Given the description of an element on the screen output the (x, y) to click on. 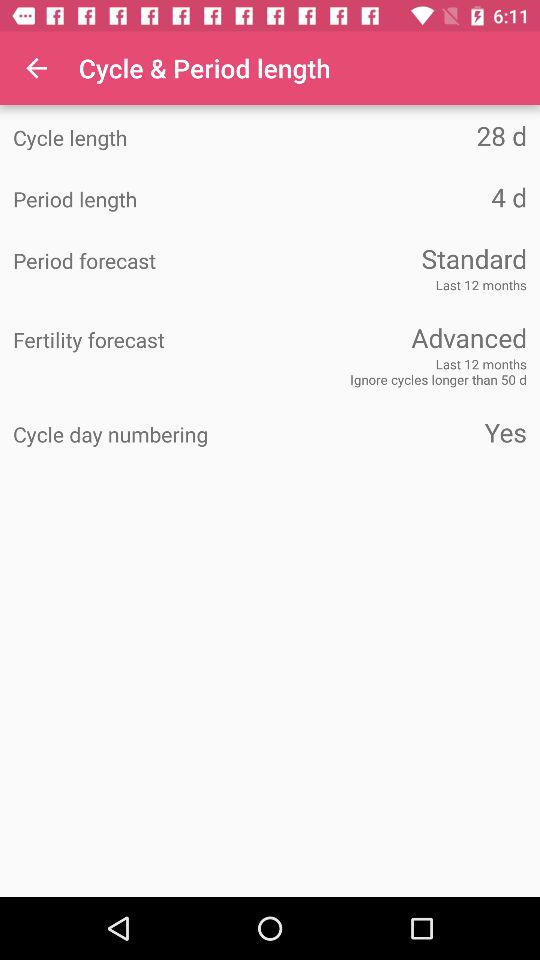
choose the icon next to cycle & period length item (36, 68)
